Given the description of an element on the screen output the (x, y) to click on. 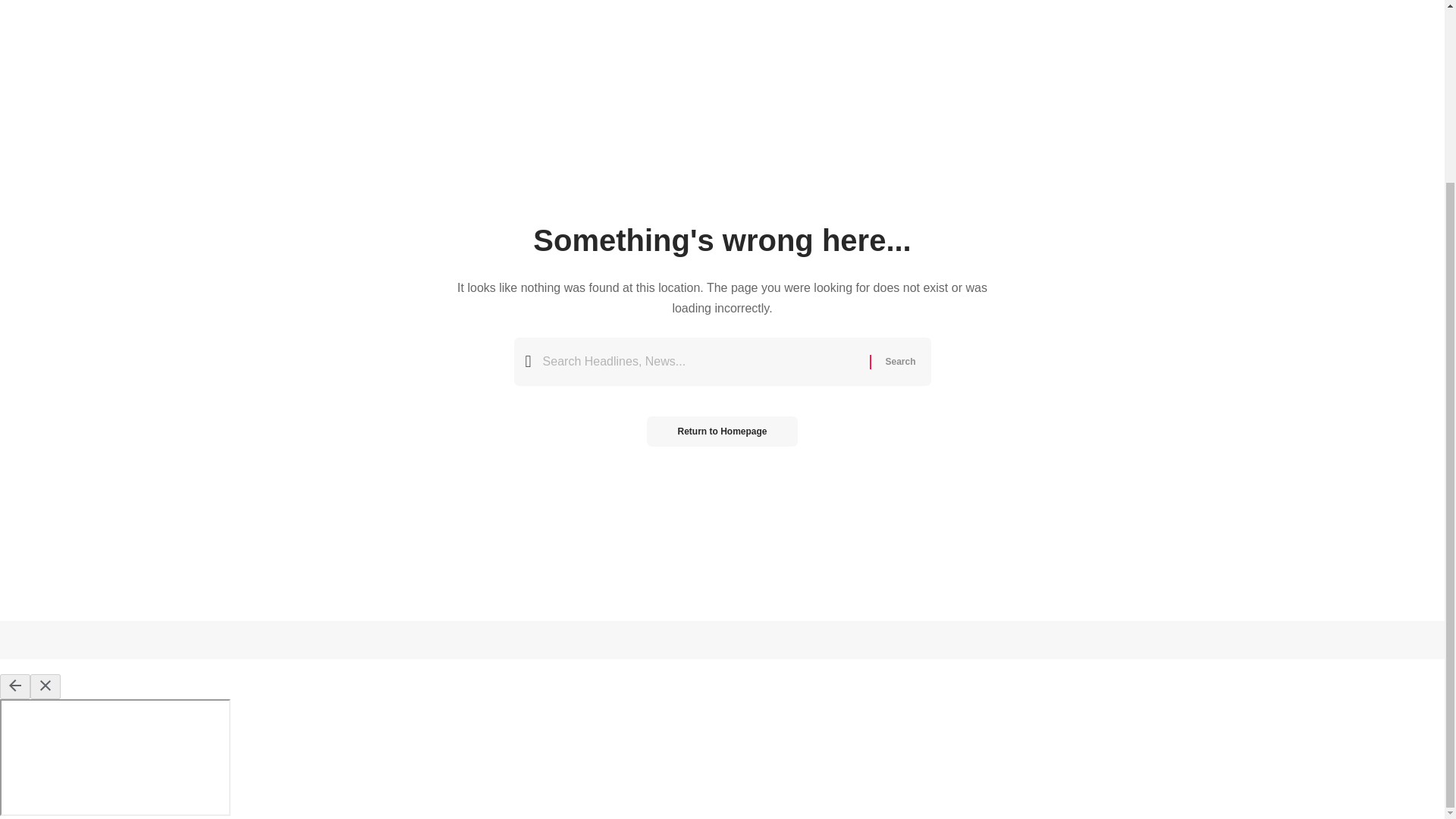
Search (899, 361)
Advertisement (721, 20)
Return to Homepage (721, 431)
Search (899, 361)
